Given the description of an element on the screen output the (x, y) to click on. 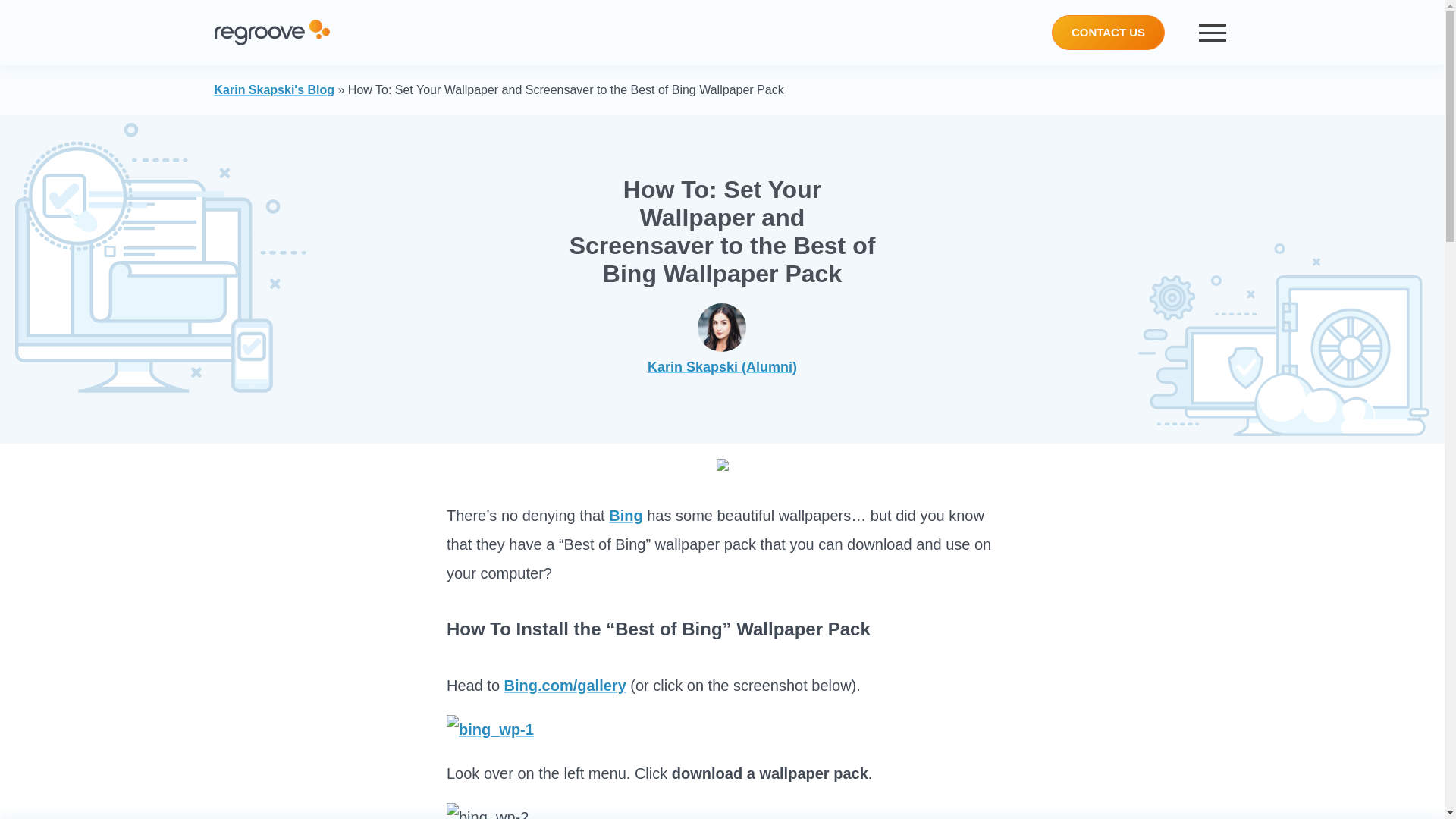
CONTACT US (1107, 32)
Karin Skapski's Blog (274, 89)
Bing (625, 515)
